Given the description of an element on the screen output the (x, y) to click on. 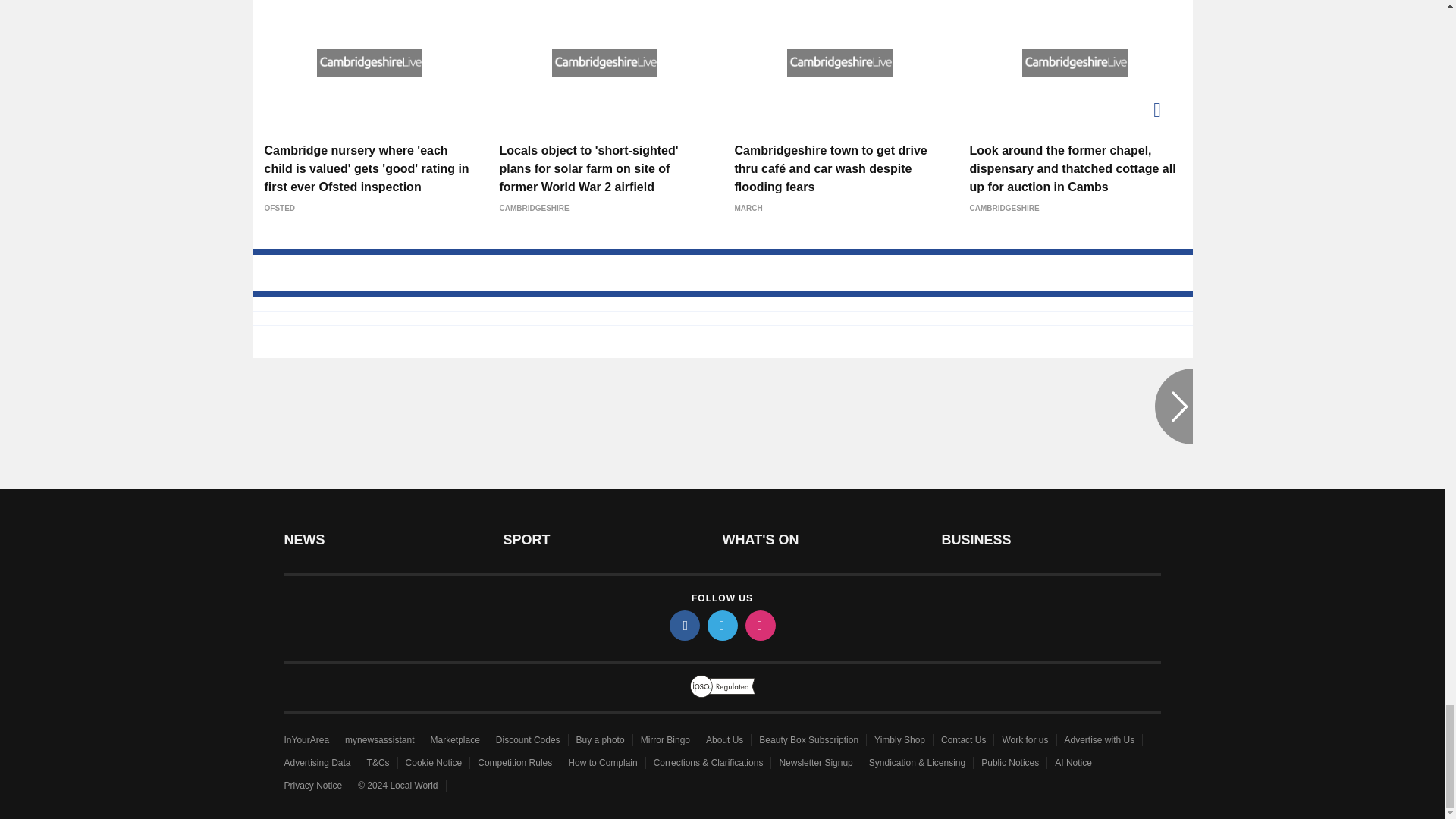
twitter (721, 625)
instagram (759, 625)
facebook (683, 625)
